Given the description of an element on the screen output the (x, y) to click on. 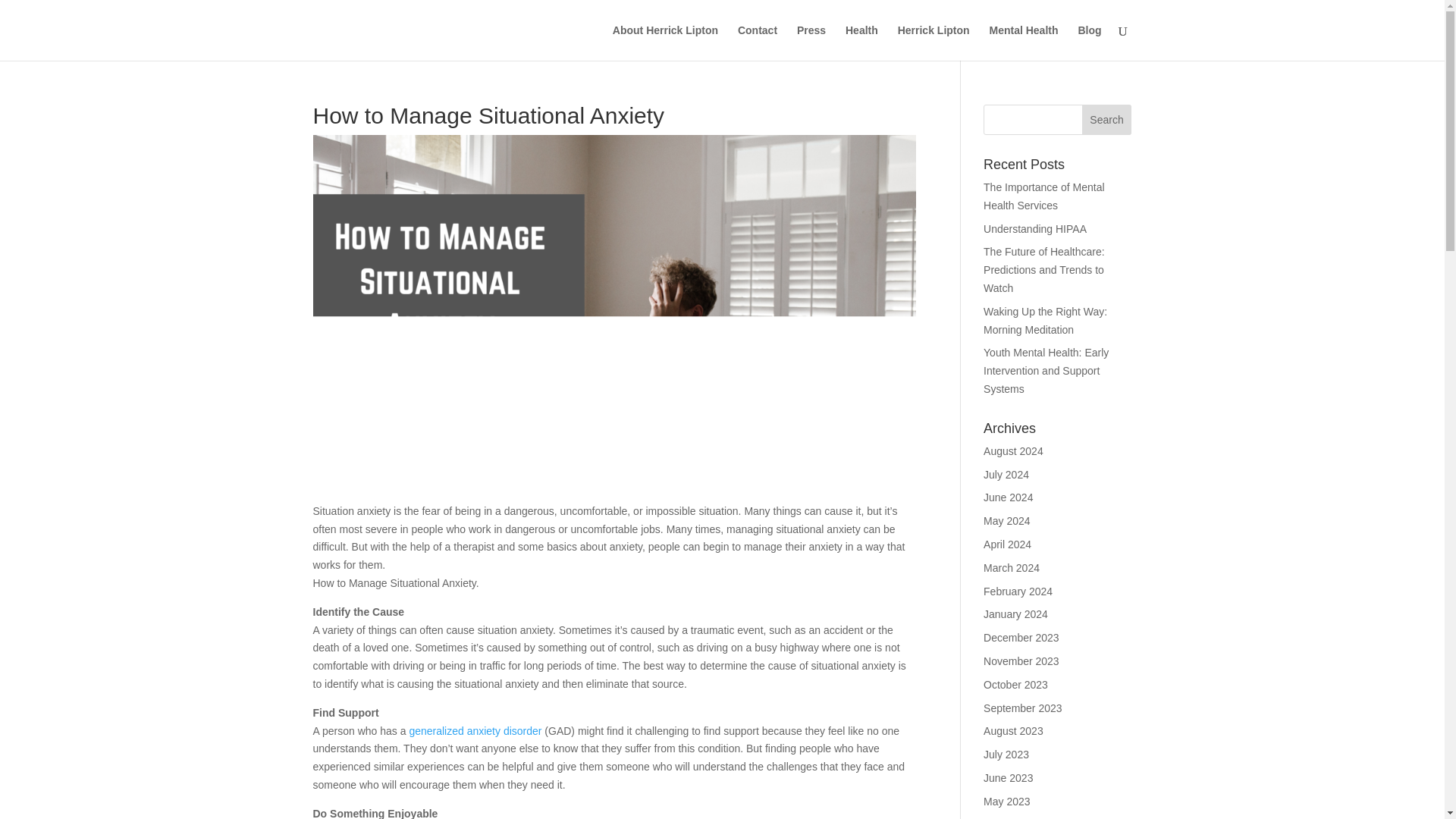
June 2024 (1008, 497)
July 2023 (1006, 754)
October 2023 (1016, 684)
April 2024 (1007, 544)
Mental Health (1023, 42)
June 2023 (1008, 777)
July 2024 (1006, 474)
Search (1106, 119)
Contact (757, 42)
The Future of Healthcare: Predictions and Trends to Watch (1044, 269)
